Given the description of an element on the screen output the (x, y) to click on. 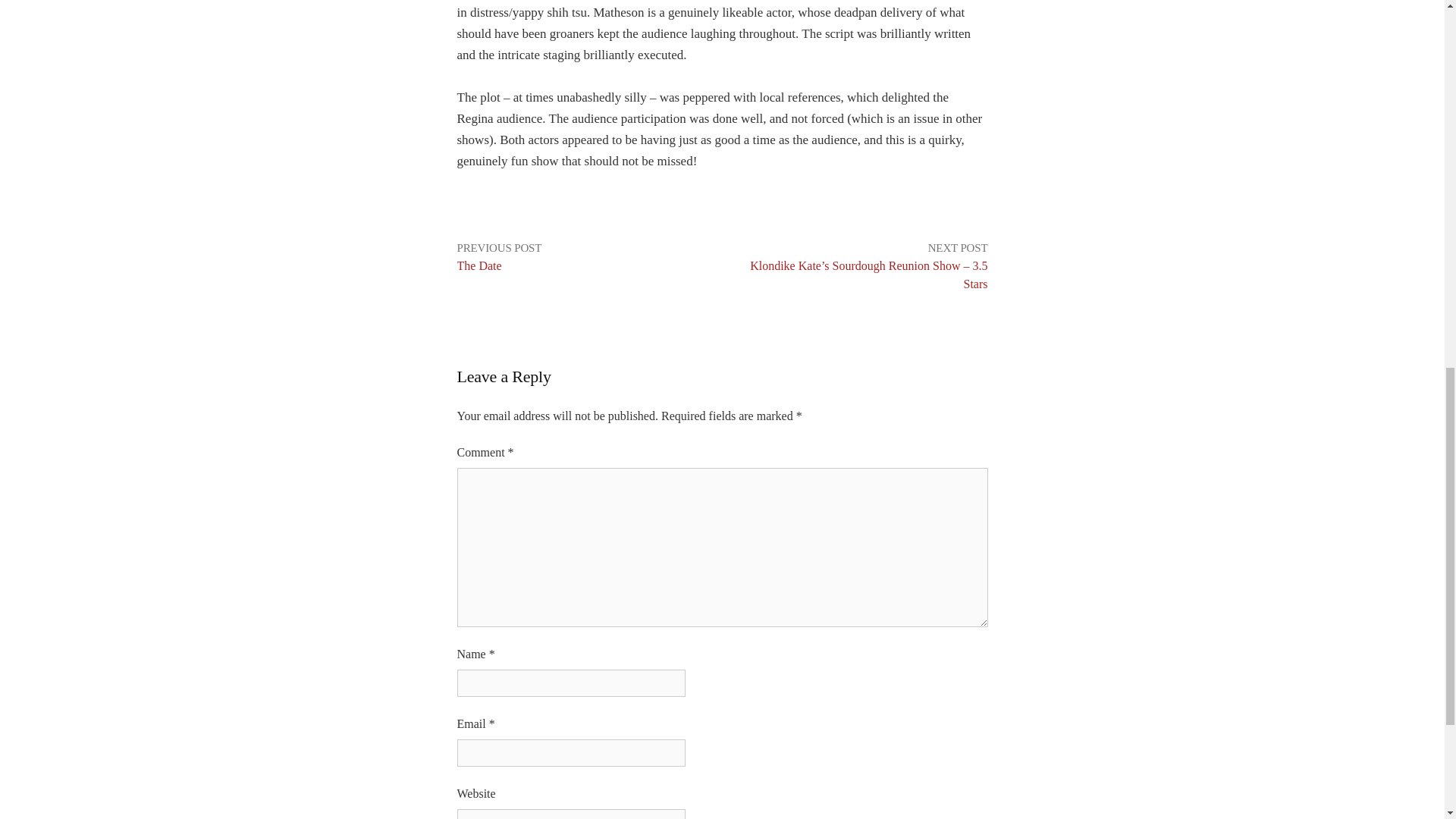
The Date (478, 265)
